Given the description of an element on the screen output the (x, y) to click on. 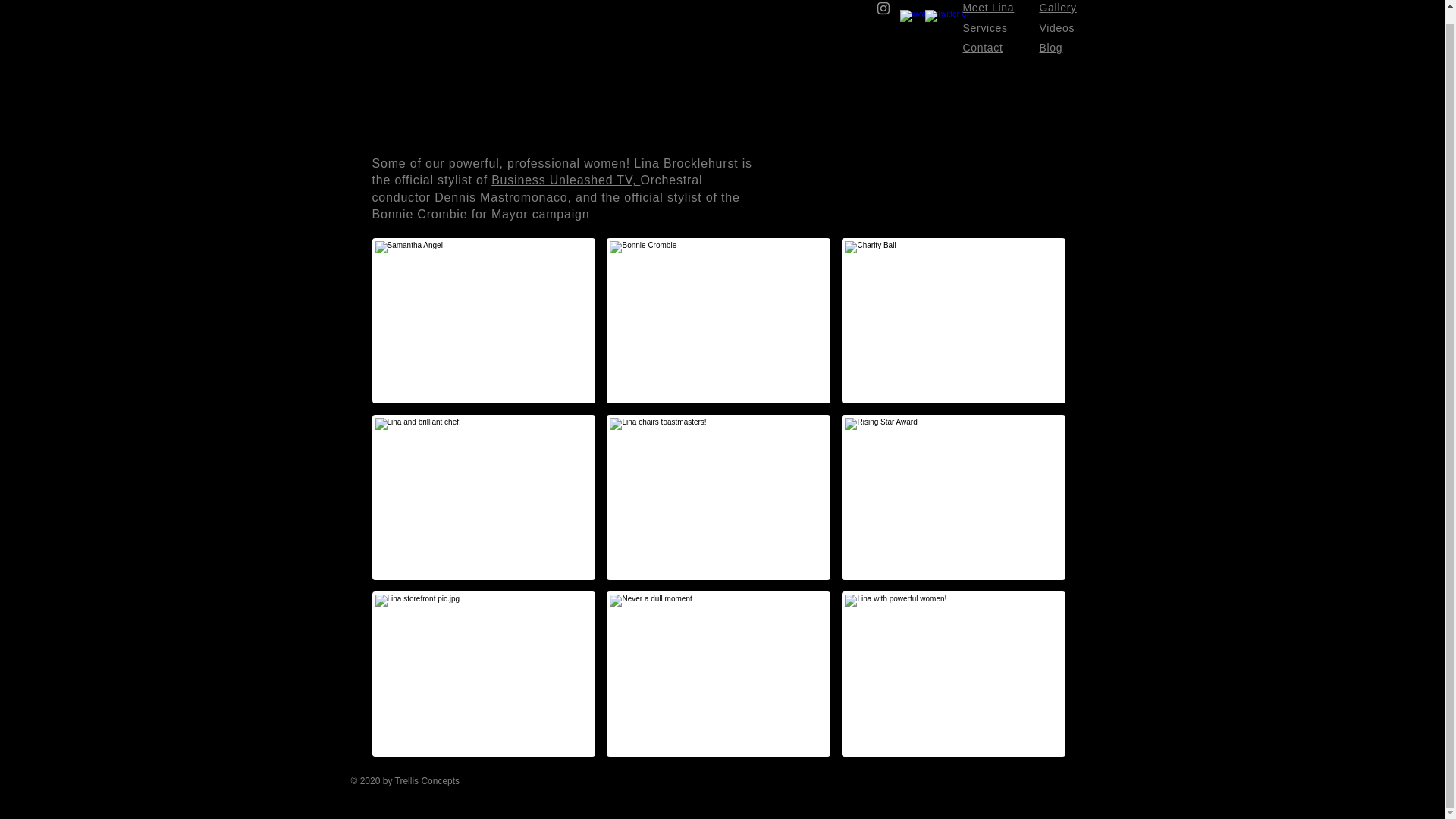
Facebook Like (994, 789)
Services (984, 28)
Gallery (1057, 7)
Meet Lina (988, 7)
Business Unleashed TV, (566, 179)
Blog (1050, 47)
Contact (982, 47)
Videos (1056, 28)
